Given the description of an element on the screen output the (x, y) to click on. 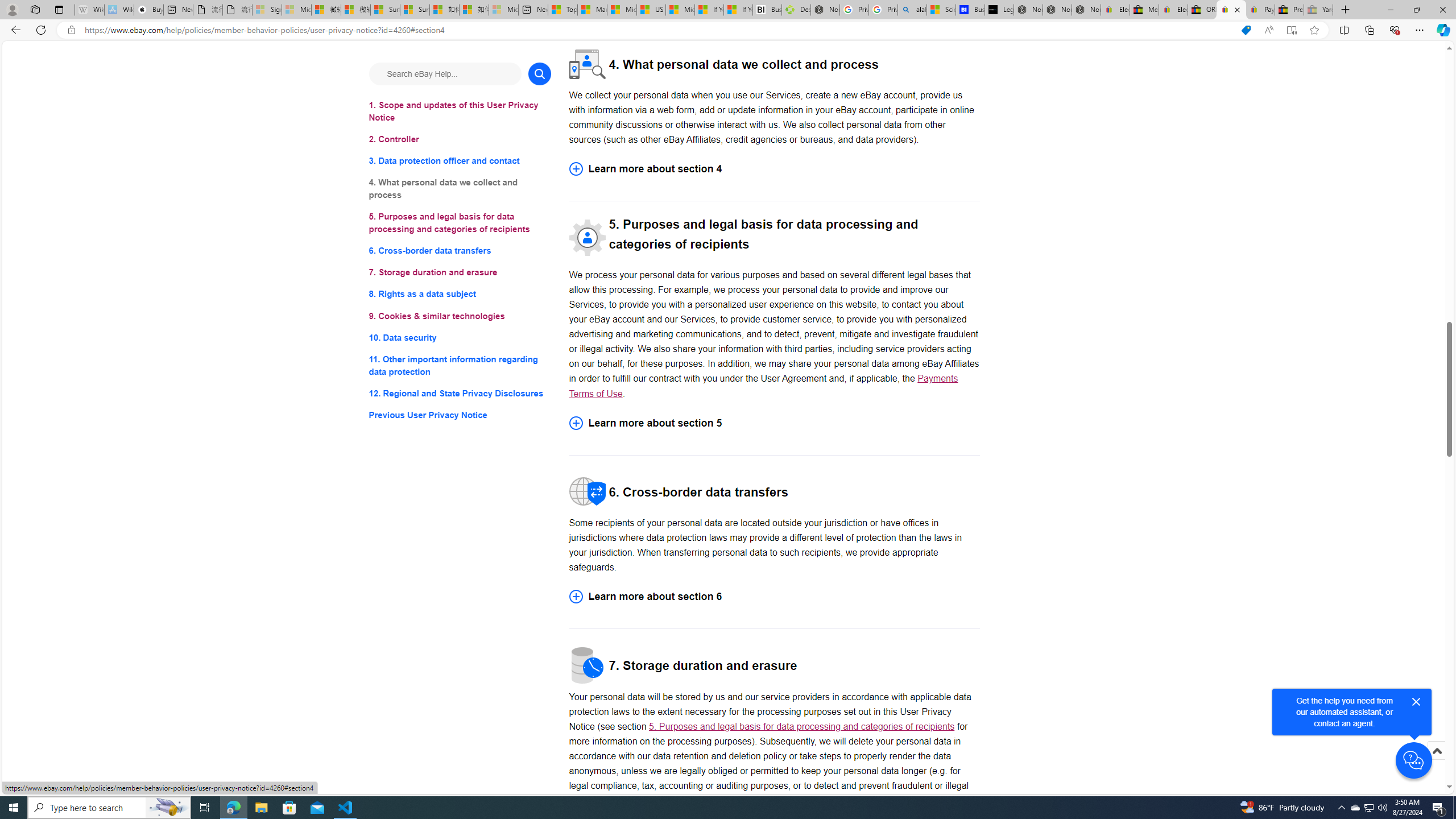
12. Regional and State Privacy Disclosures (459, 392)
12. Regional and State Privacy Disclosures (459, 392)
8. Rights as a data subject (459, 293)
App bar (728, 29)
Wikipedia - Sleeping (89, 9)
Scroll to top (1435, 762)
Scroll to top (1435, 750)
Previous User Privacy Notice (459, 414)
11. Other important information regarding data protection (459, 365)
2. Controller (459, 138)
